Given the description of an element on the screen output the (x, y) to click on. 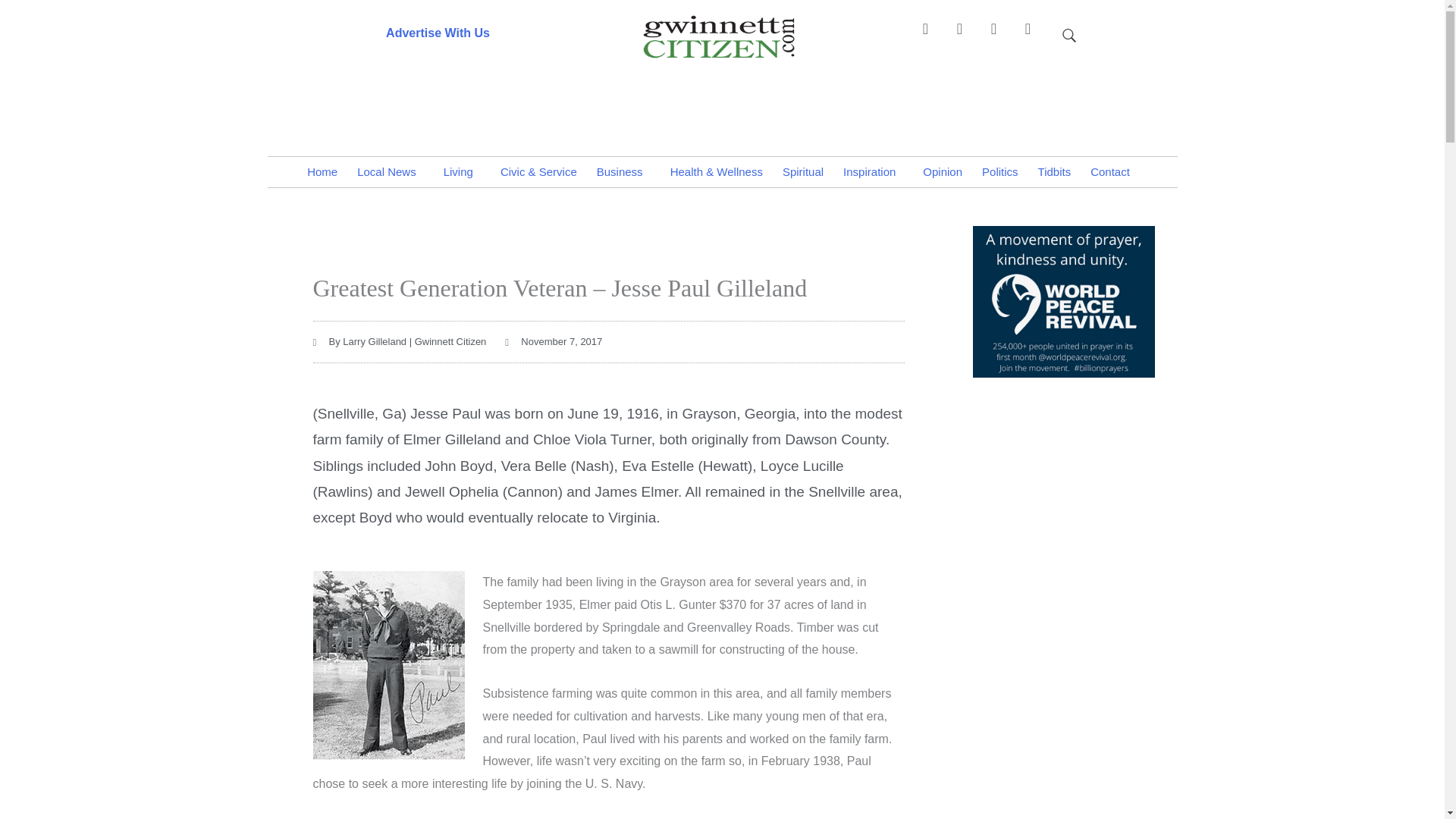
Living (461, 172)
Opinion (942, 172)
Spiritual (802, 172)
Facebook (932, 36)
Tidbits (1054, 172)
Advertise With Us (437, 32)
Advertisement (721, 100)
Twitter (1000, 36)
Youtube (1034, 36)
Advertisement (1063, 487)
Inspiration (872, 172)
Politics (999, 172)
Business (623, 172)
Contact (1113, 172)
Local News (390, 172)
